Given the description of an element on the screen output the (x, y) to click on. 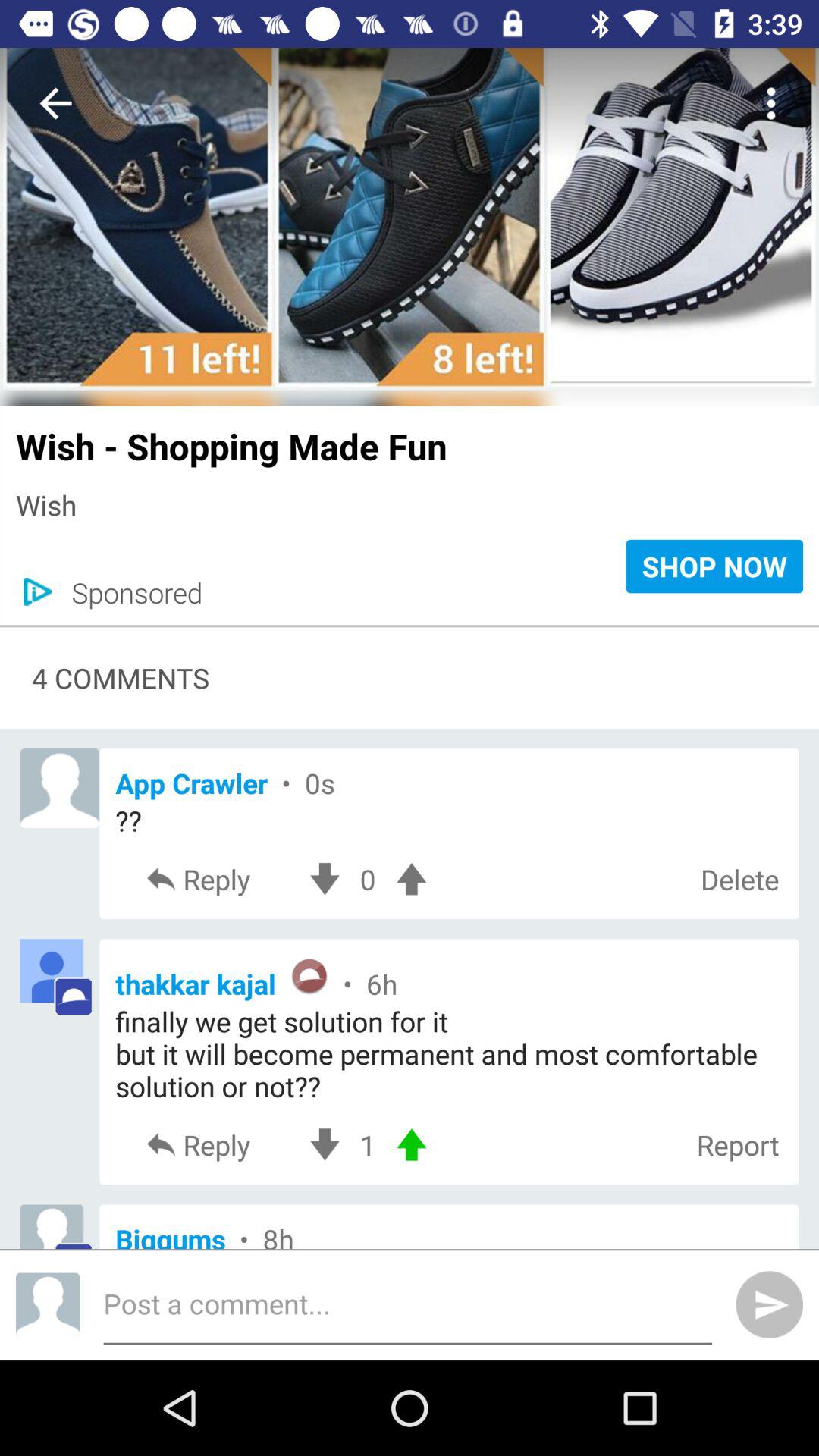
press the icon below the finally we get item (367, 1144)
